Given the description of an element on the screen output the (x, y) to click on. 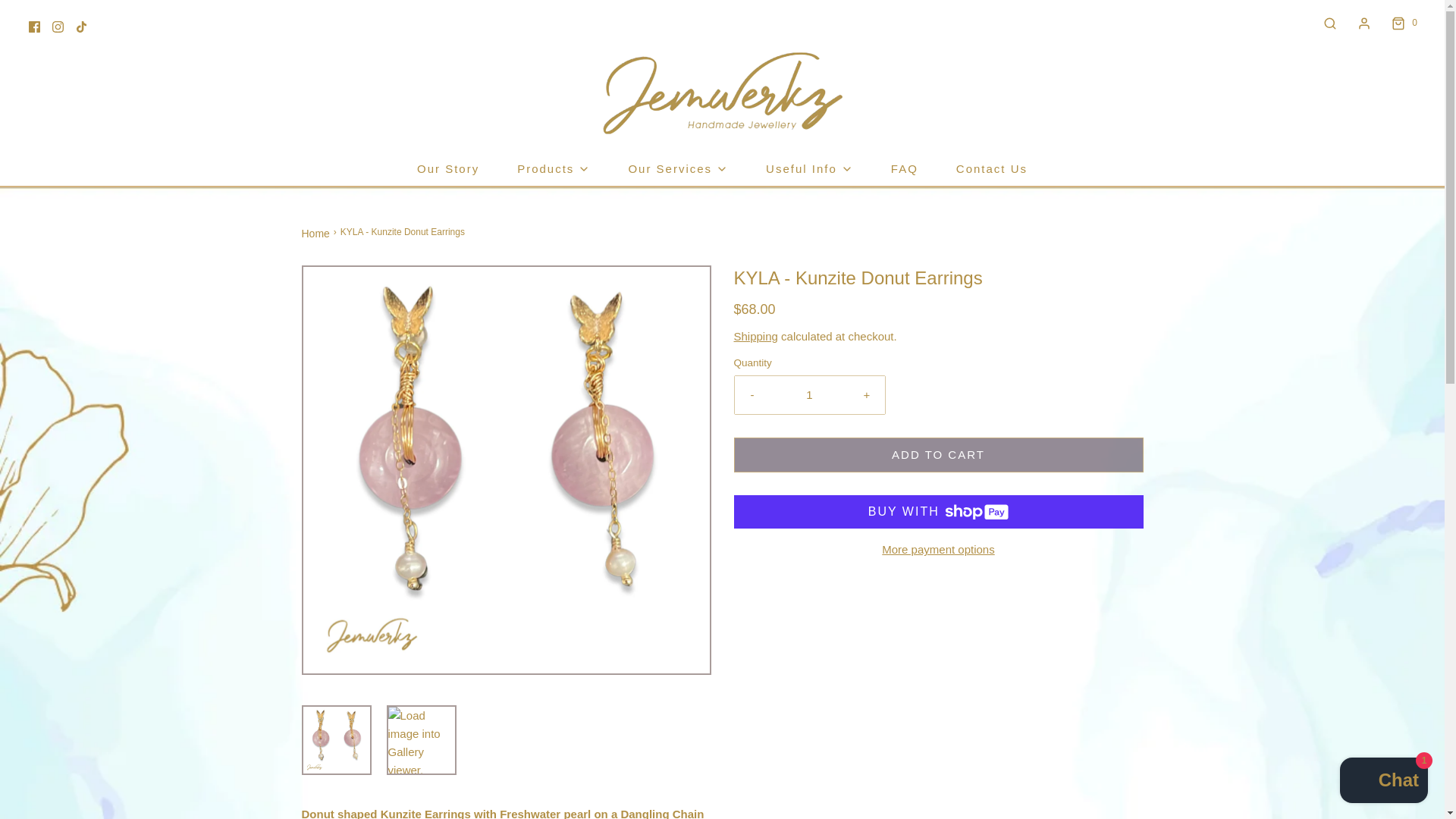
Shopify online store chat (1383, 781)
Products (552, 168)
TikTok icon (81, 26)
Our Story (447, 168)
Cart (1403, 23)
Log in (1364, 23)
Back to the frontpage (317, 233)
1 (809, 394)
Contact Us (991, 168)
Our Services (677, 168)
Instagram icon (58, 26)
0 (1403, 23)
Search (1329, 23)
TikTok icon (81, 26)
Facebook icon (34, 26)
